Given the description of an element on the screen output the (x, y) to click on. 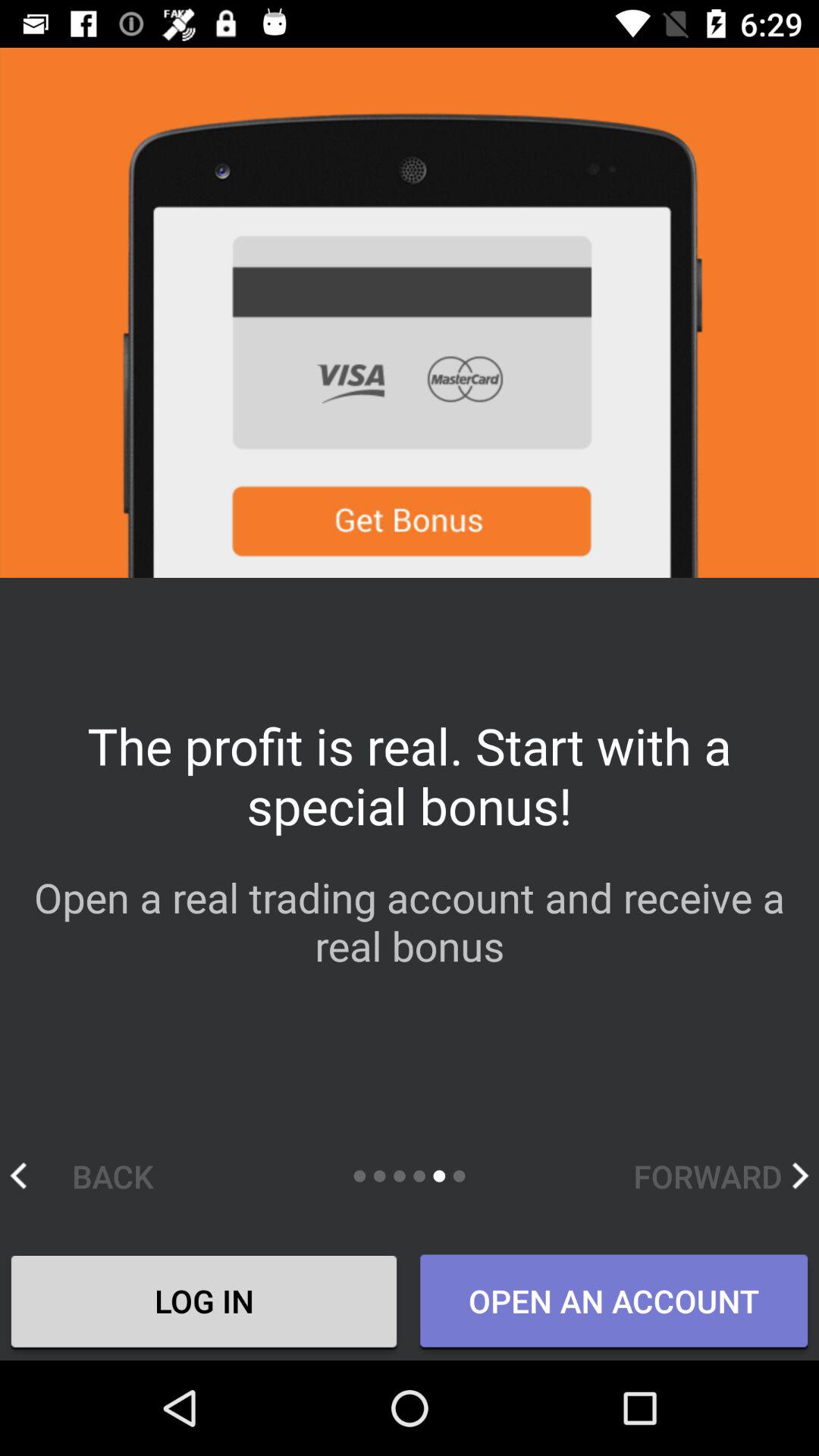
open the icon below the open a real icon (97, 1175)
